Given the description of an element on the screen output the (x, y) to click on. 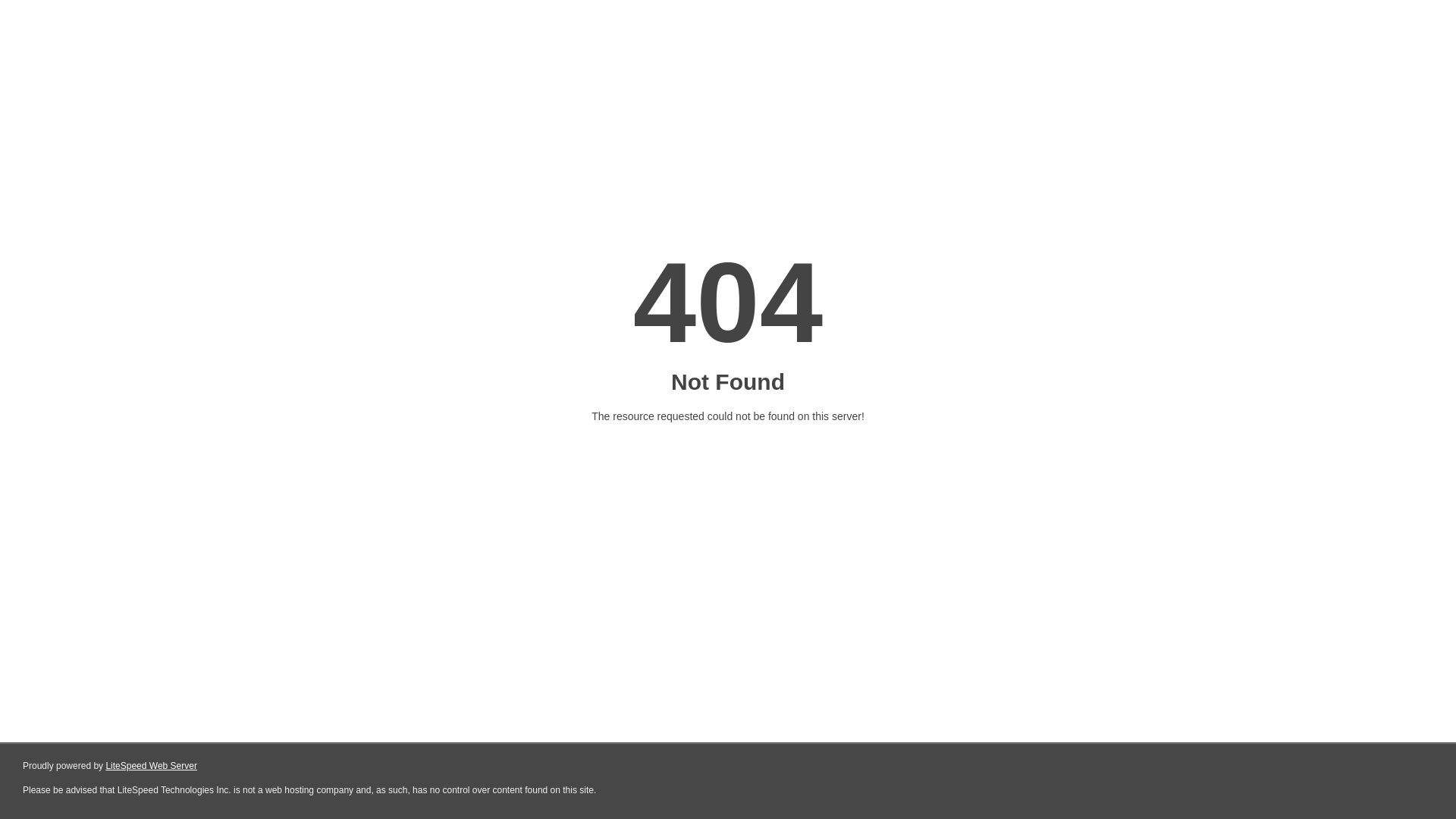
LiteSpeed Web Server Element type: text (151, 765)
